Given the description of an element on the screen output the (x, y) to click on. 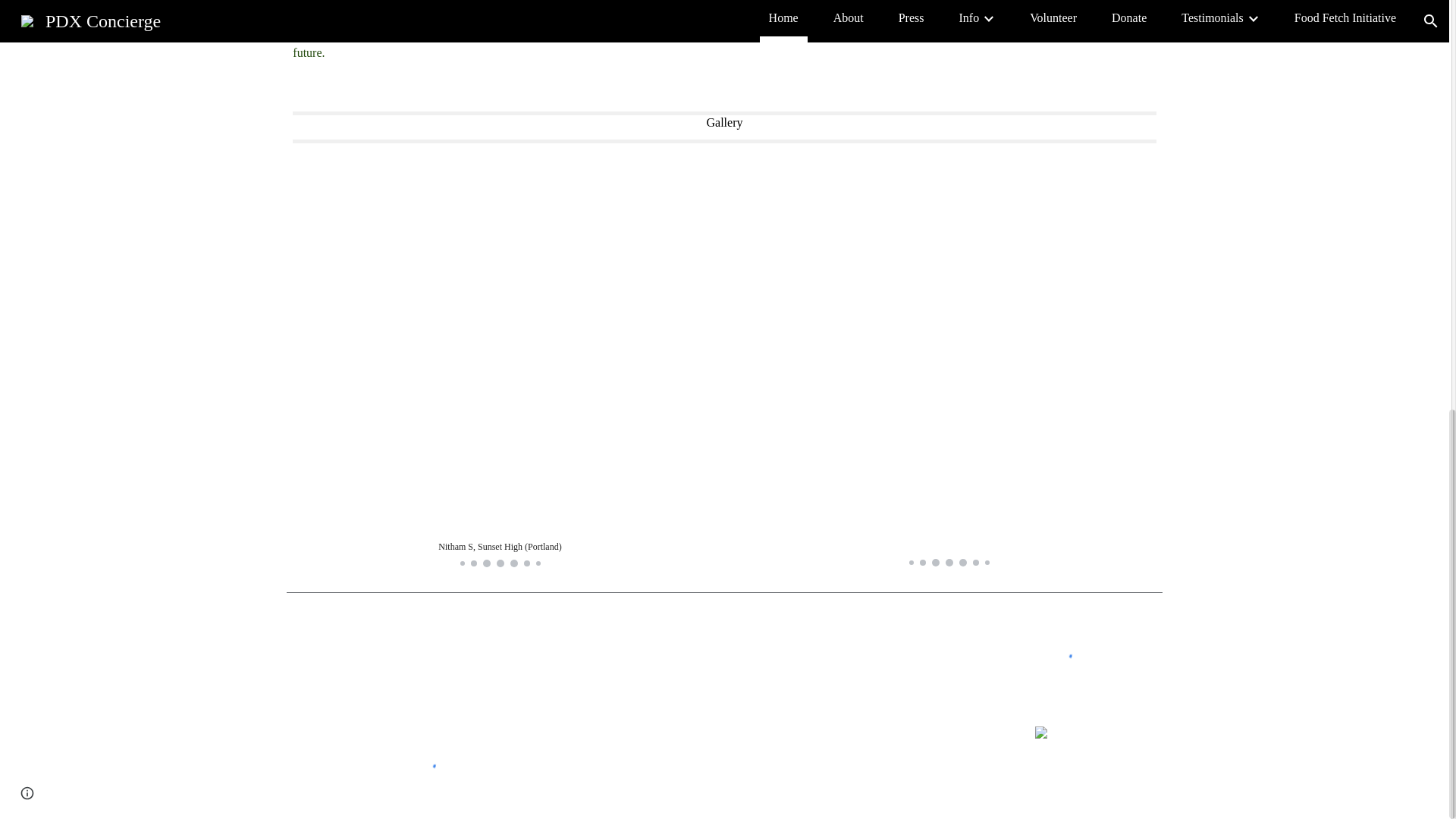
Custom embed (424, 763)
Custom embed (1060, 653)
